Given the description of an element on the screen output the (x, y) to click on. 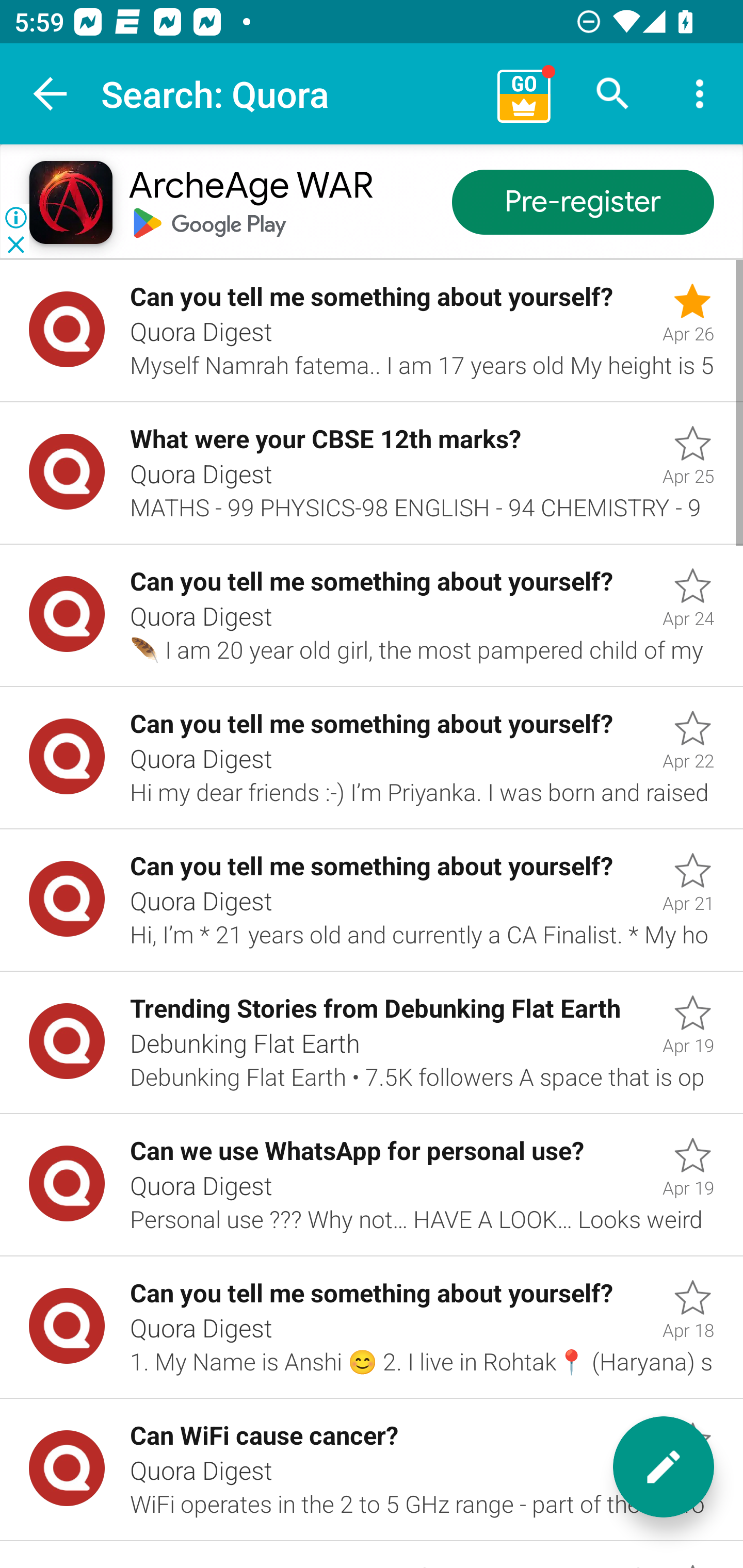
Navigate up (50, 93)
Search (612, 93)
More options (699, 93)
New message (663, 1466)
